Given the description of an element on the screen output the (x, y) to click on. 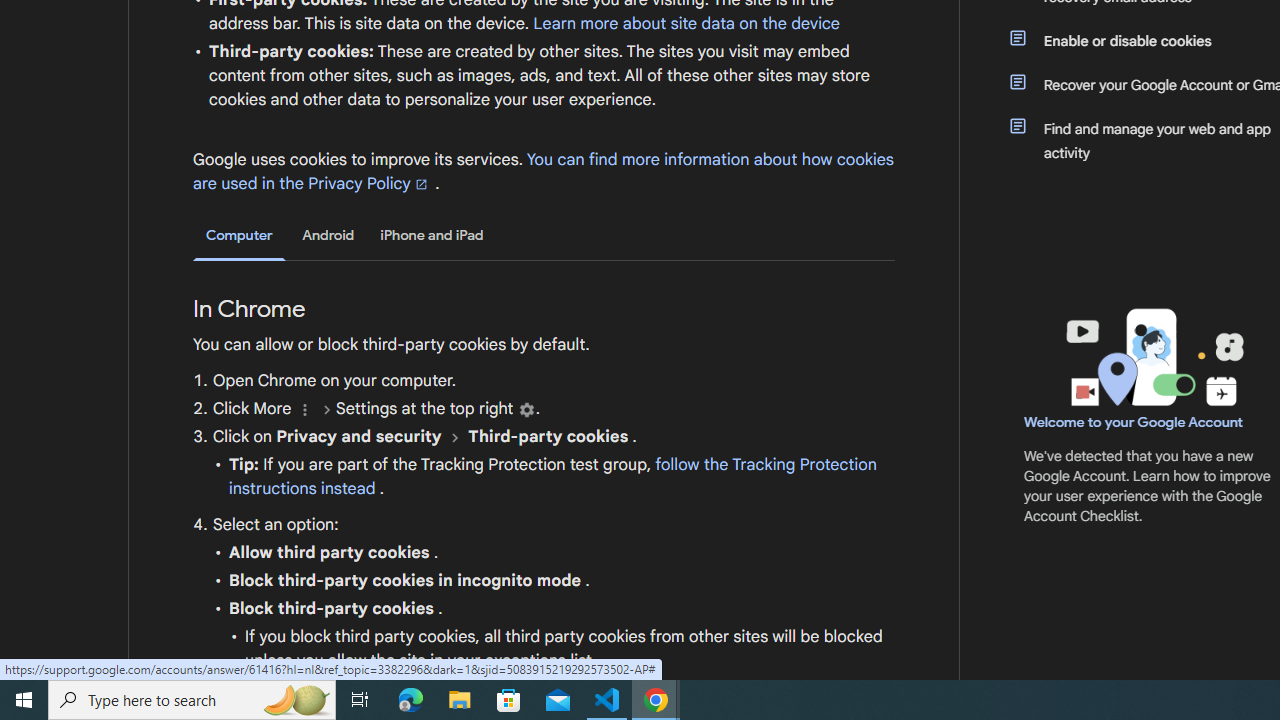
follow the Tracking Protection instructions instead (552, 476)
and then (454, 437)
Computer (239, 235)
More (303, 409)
Android (328, 235)
Learn more about site data on the device (686, 23)
Institutions (526, 409)
Welcome to your Google Account (1134, 422)
iPhone and iPad (431, 235)
Learning Center home page image (1152, 357)
